Given the description of an element on the screen output the (x, y) to click on. 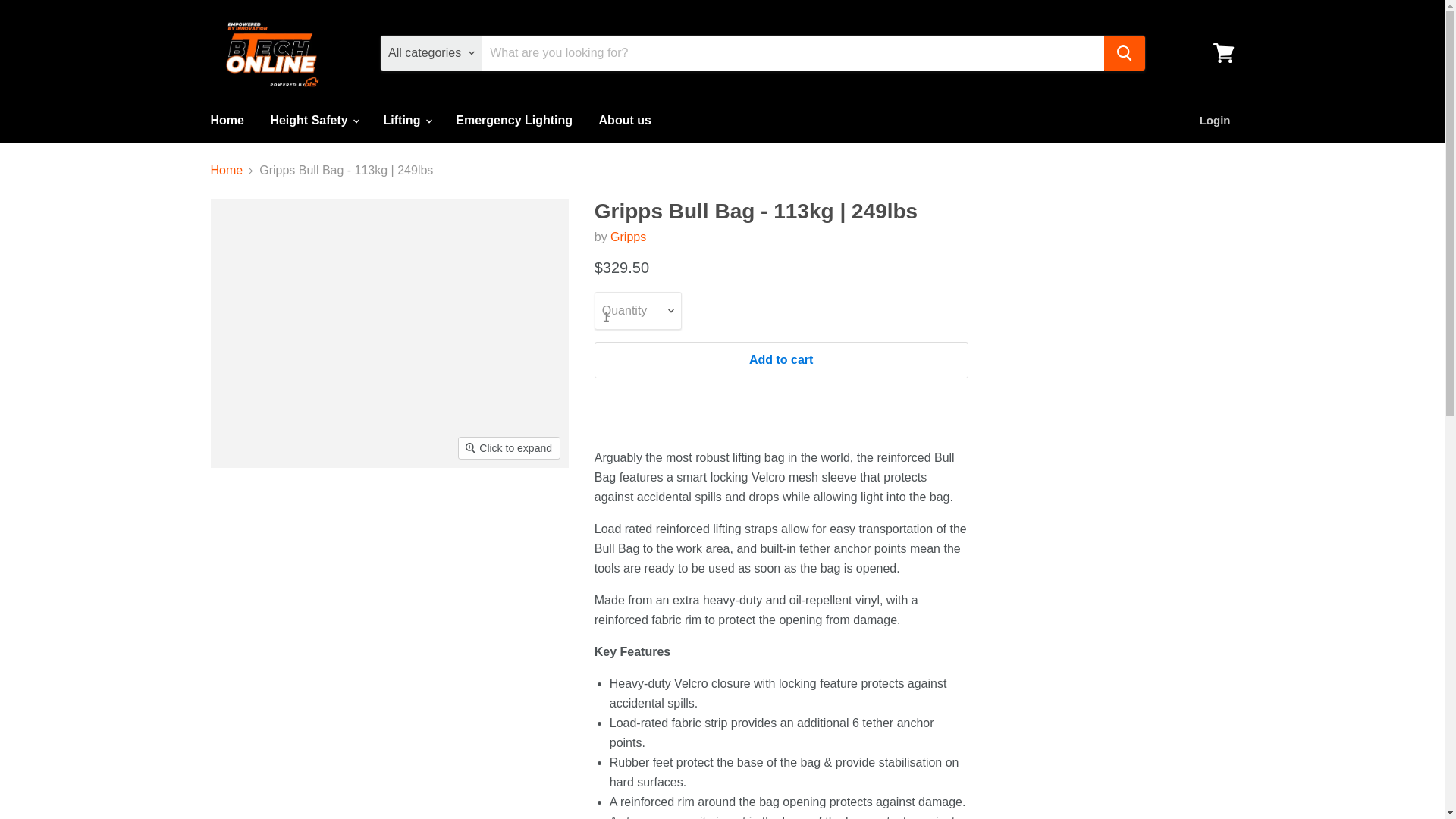
Gripps (628, 236)
Height Safety (313, 120)
Emergency Lighting (513, 120)
Login (1215, 120)
View cart (1223, 53)
Home (226, 120)
Lifting (406, 120)
About us (625, 120)
